Given the description of an element on the screen output the (x, y) to click on. 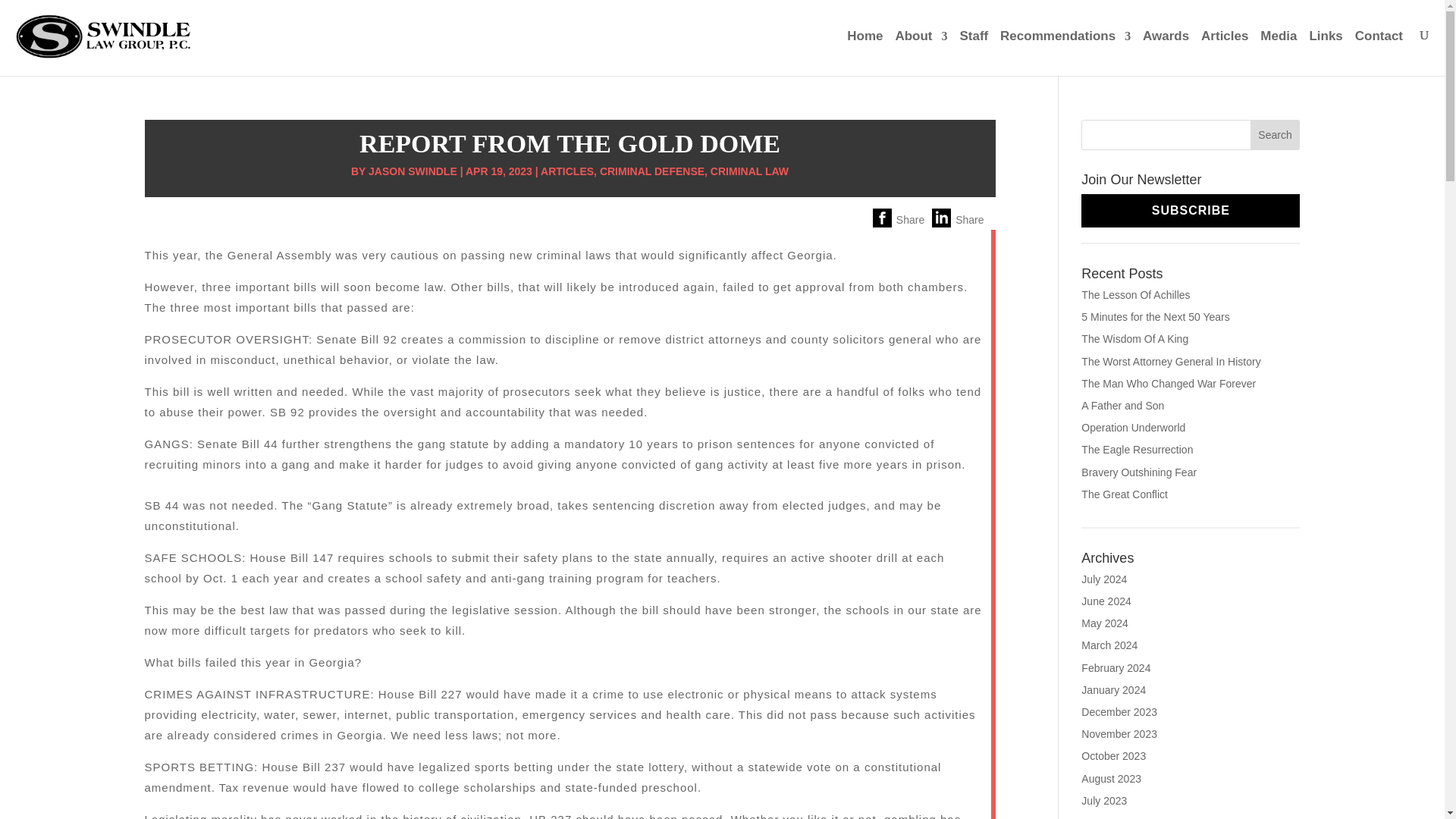
About (921, 50)
Recommendations (1065, 50)
Posts by Jason Swindle (412, 171)
Articles (1224, 50)
Share on Linkedin (989, 216)
Search (1275, 134)
Awards (1165, 50)
Subscribe (1190, 210)
Contact (1379, 50)
